Given the description of an element on the screen output the (x, y) to click on. 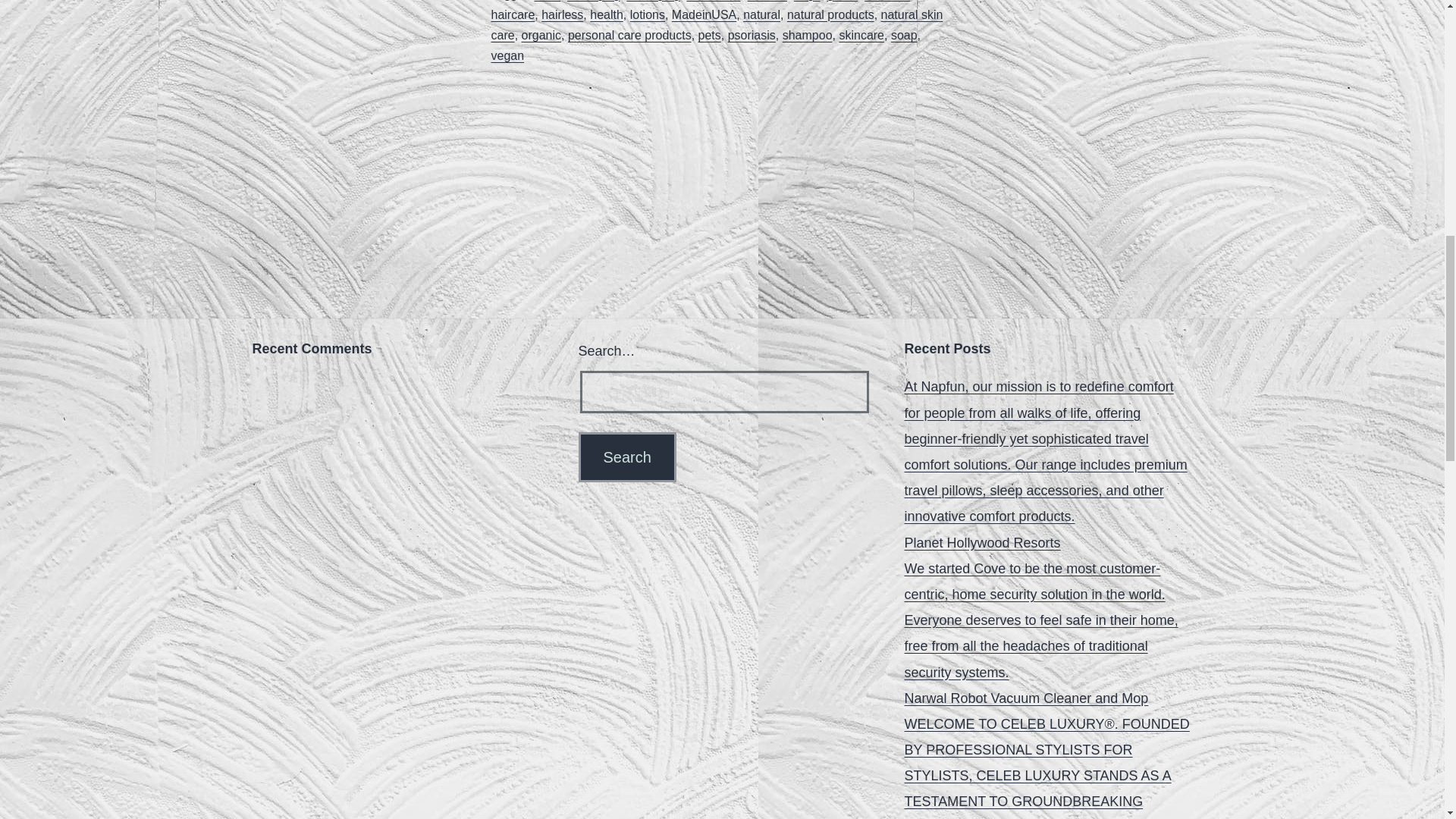
shampoo (807, 34)
anti aging (593, 0)
Narwal Robot Vacuum Cleaner and Mop (1026, 698)
natural skin care (717, 24)
Search (626, 457)
natural products (831, 14)
health (606, 14)
haircare (513, 14)
soap (904, 34)
pets (709, 34)
hairless (562, 14)
personal care products (629, 34)
Search (626, 457)
